Given the description of an element on the screen output the (x, y) to click on. 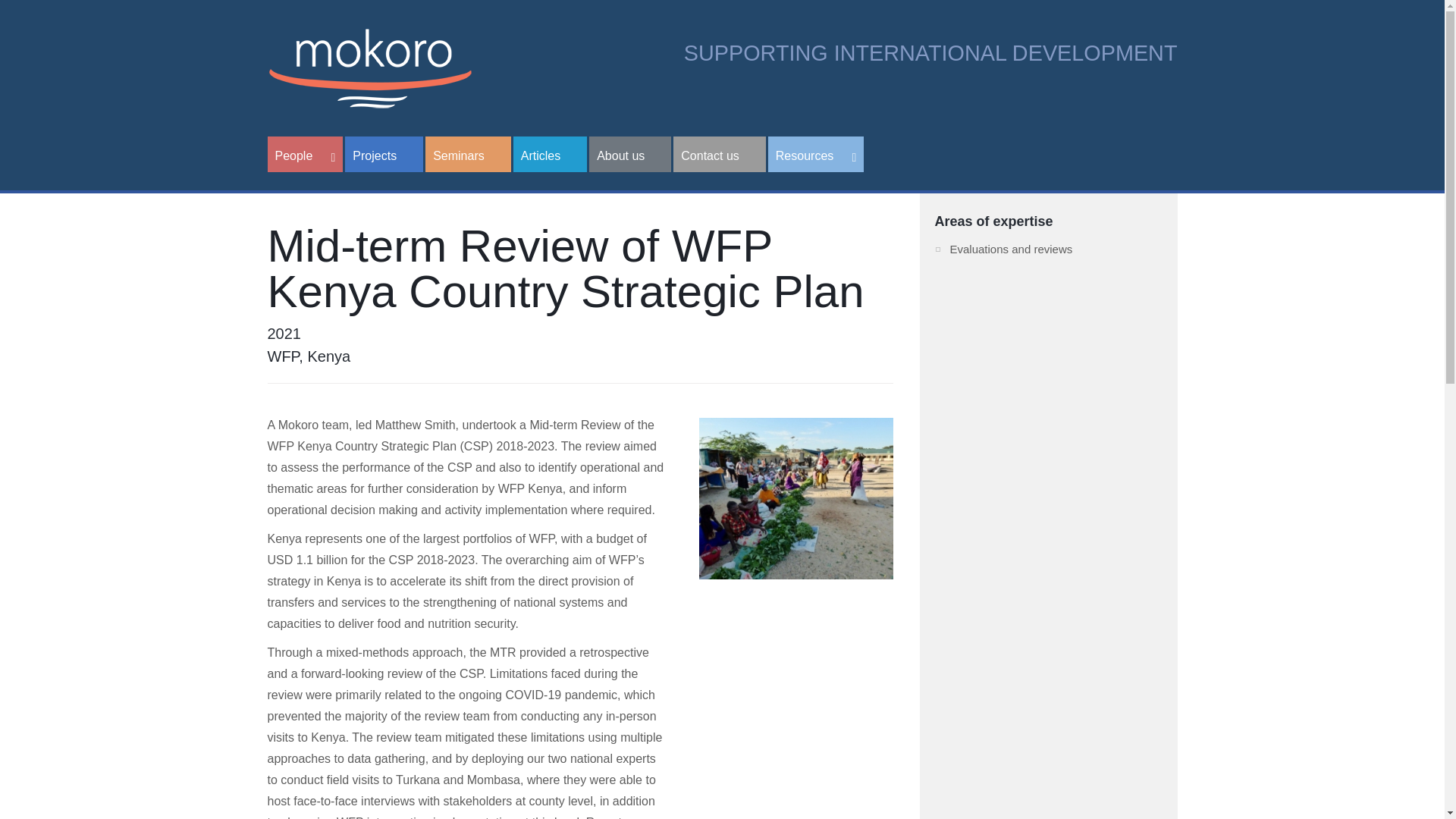
Seminars (468, 153)
Contact us (718, 153)
Mokoro (368, 67)
People (304, 153)
Articles (549, 153)
Resources (815, 153)
About us (630, 153)
Projects (384, 153)
